Given the description of an element on the screen output the (x, y) to click on. 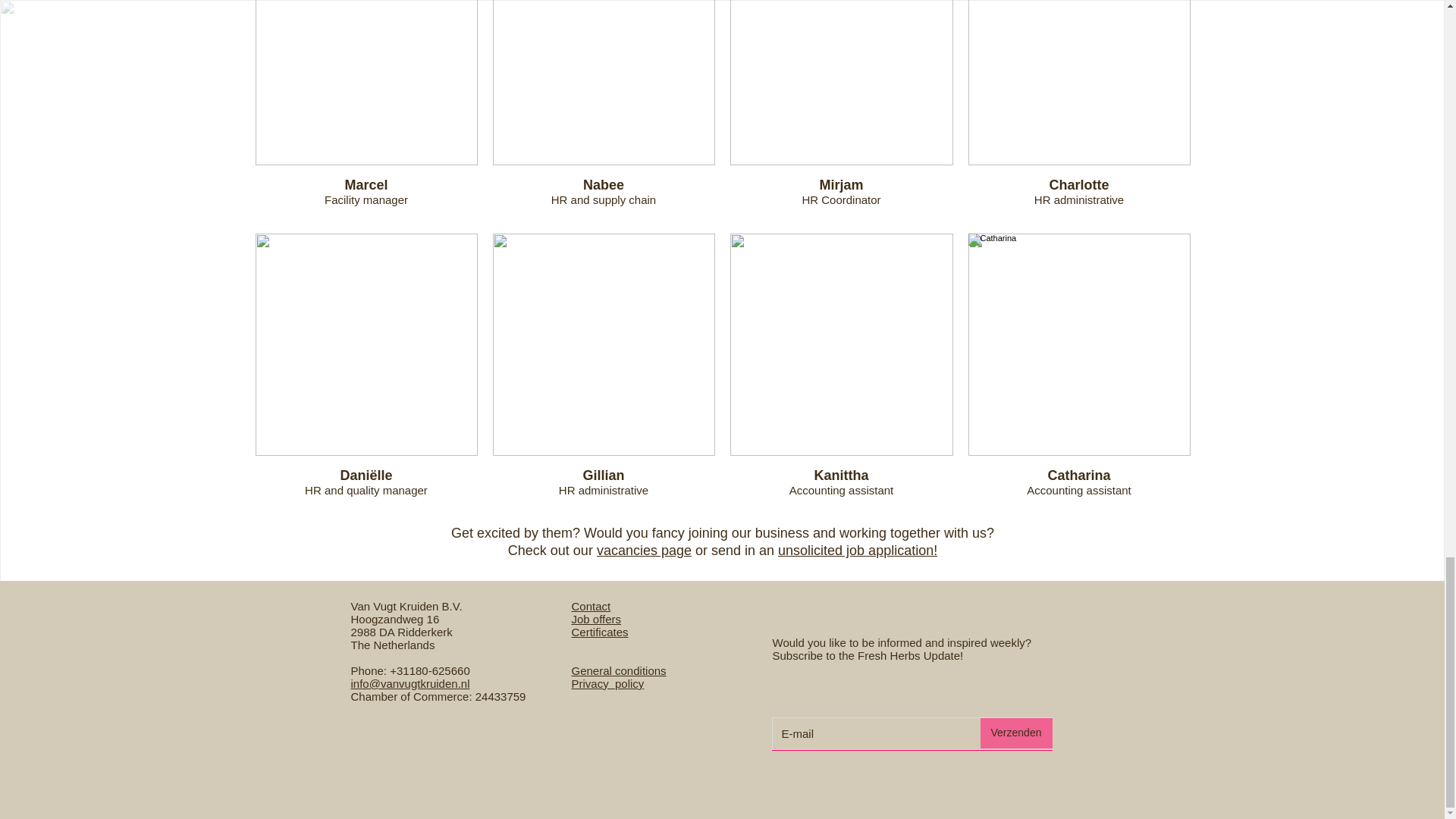
Privacy  policy (608, 683)
Certificates (600, 631)
Van Vugt Kruiden B.V. (405, 605)
unsolicited job application! (857, 549)
General conditions (619, 670)
Verzenden (1015, 733)
Job offers (596, 618)
inspired weekly (986, 642)
vacancies page (643, 549)
Contact (591, 605)
